Given the description of an element on the screen output the (x, y) to click on. 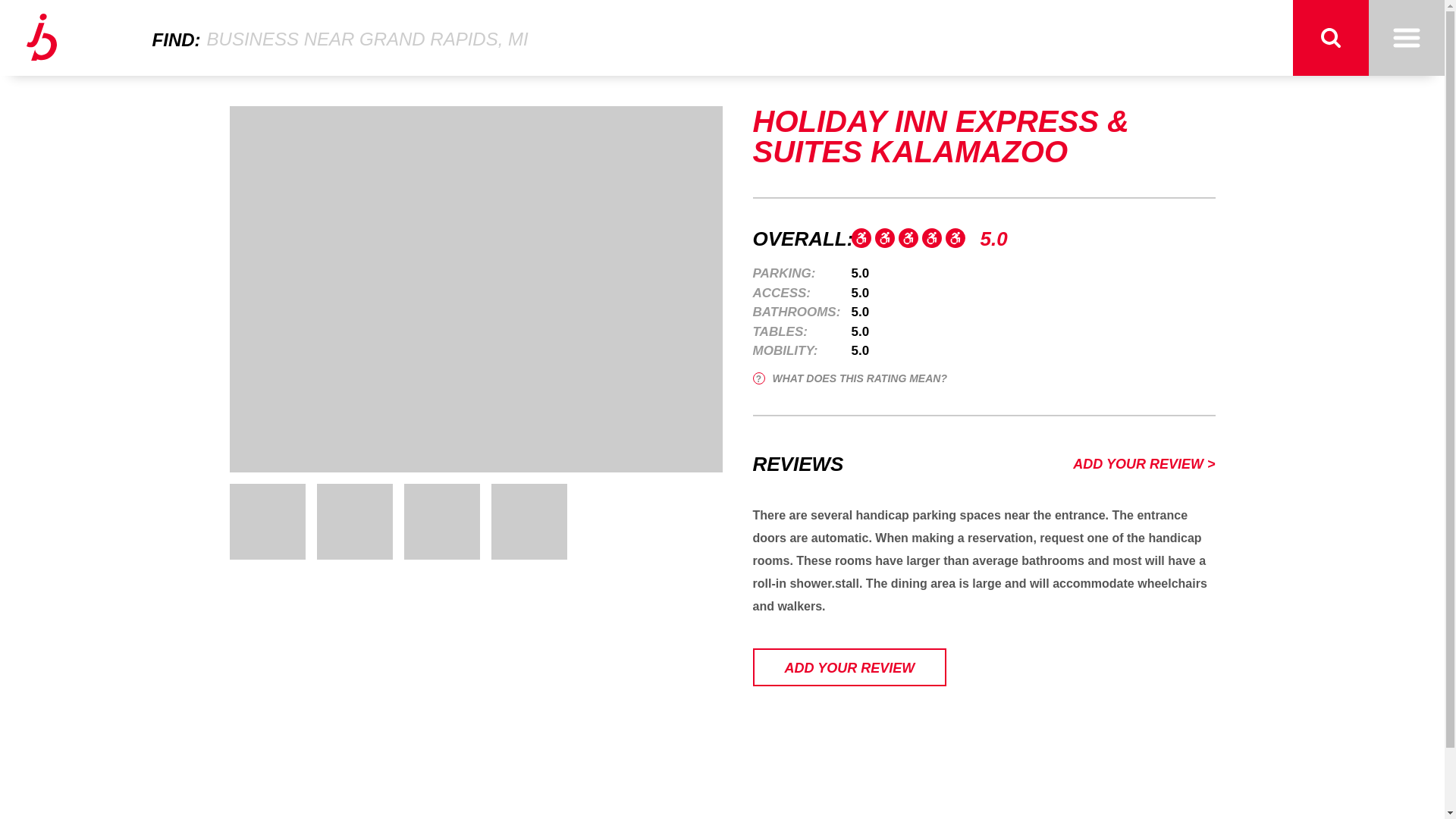
Johnny's Pass (41, 37)
WHAT DOES THIS RATING MEAN? (849, 377)
ADD YOUR REVIEW (849, 667)
